Given the description of an element on the screen output the (x, y) to click on. 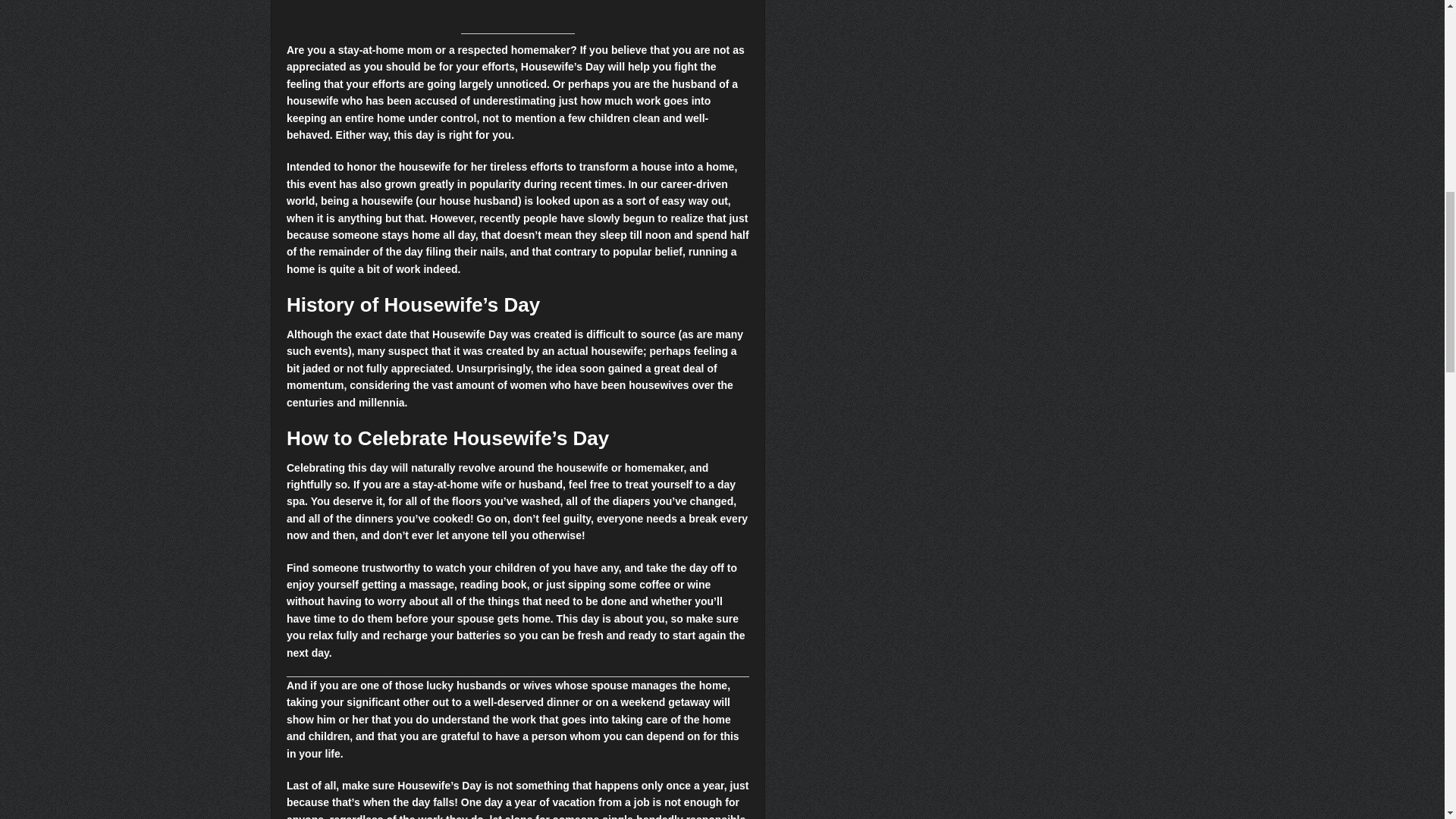
Advertisement (518, 16)
